Given the description of an element on the screen output the (x, y) to click on. 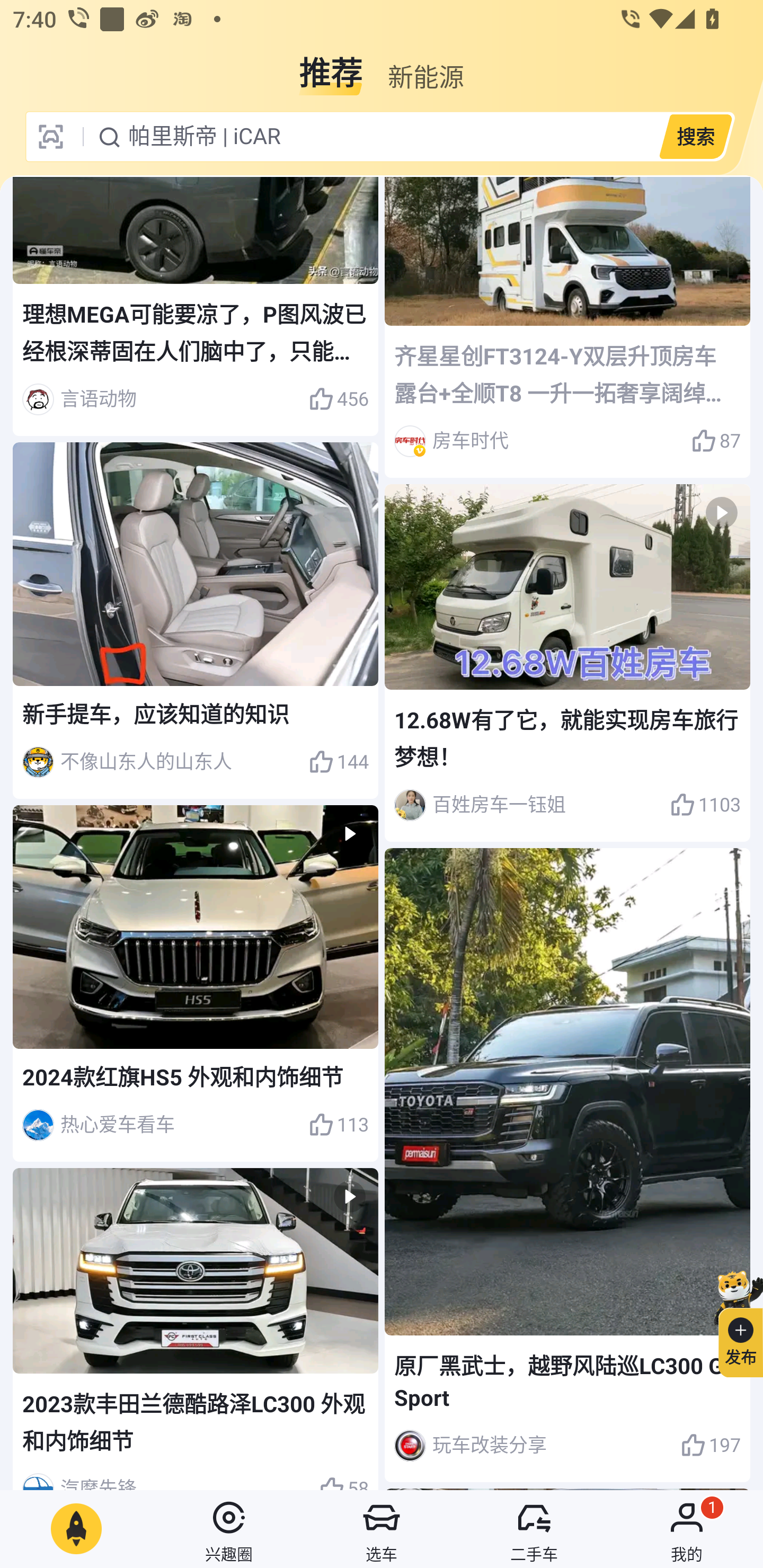
推荐 (330, 65)
新能源 (425, 65)
搜索 (695, 136)
齐星星创FT3124-Y双层升顶房车 露台+全顺T8 一升一拓奢享阔绰空间 房车时代 87 (567, 327)
456 (338, 399)
87 (715, 441)
新手提车，应该知道的知识 不像山东人的山东人 144 (195, 620)
 12.68W有了它，就能实现房车旅行梦想！ 百姓房车一钰姐 1103 (567, 663)
144 (338, 761)
1103 (704, 804)
 2024款红旗HS5 外观和内饰细节 热心爱车看车 113 (195, 983)
原厂黑武士，越野风陆巡LC300 GR Sport 玩车改装分享 197 (567, 1164)
113 (338, 1124)
 2023款丰田兰德酷路泽LC300 外观和内饰细节 汽摩先锋 58 (195, 1328)
发布 (732, 1321)
197 (710, 1445)
 兴趣圈 (228, 1528)
 选车 (381, 1528)
 二手车 (533, 1528)
 我的 (686, 1528)
